Given the description of an element on the screen output the (x, y) to click on. 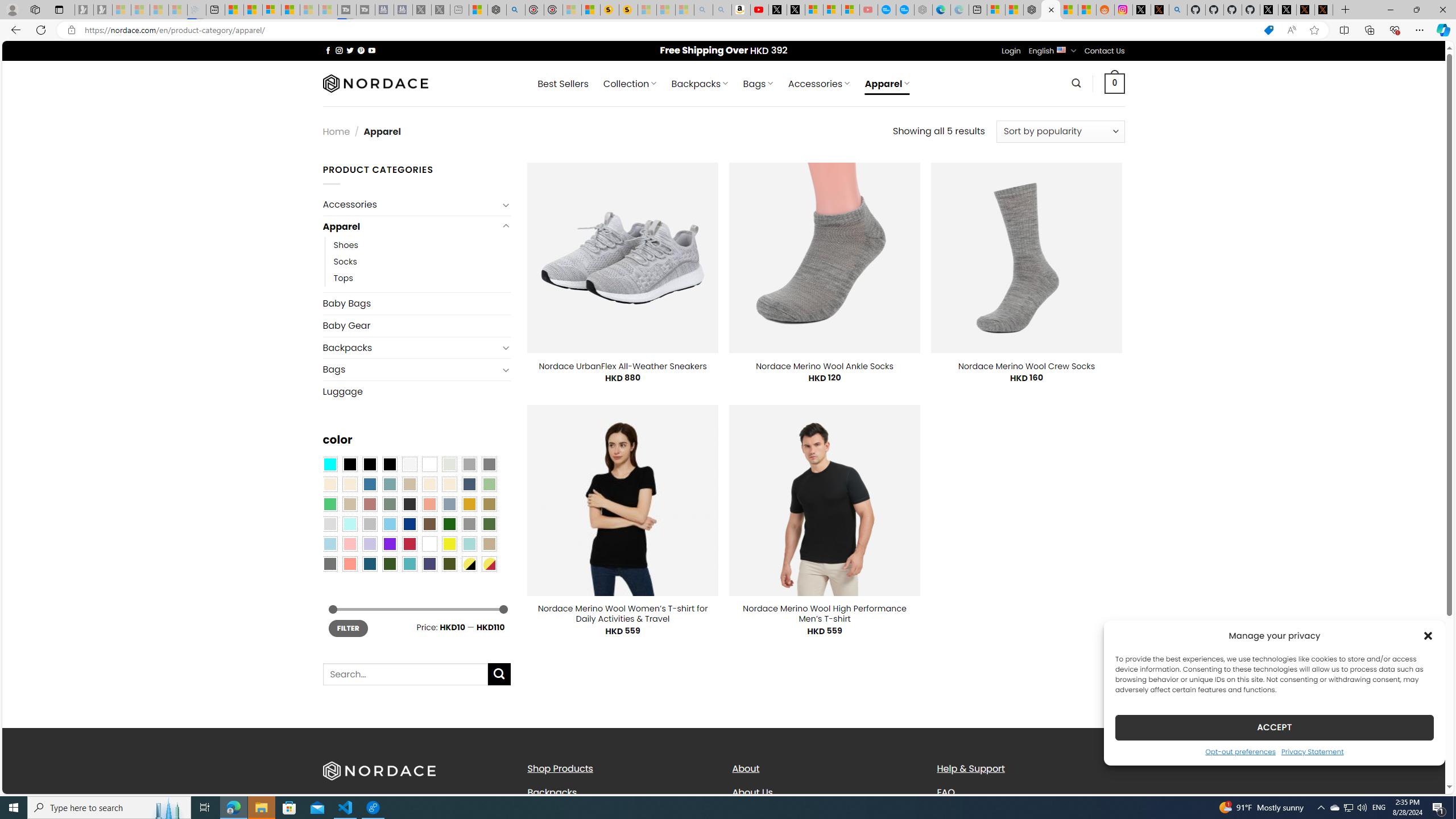
Nordace Merino Wool Crew Socks (1026, 365)
Newsletter Sign Up - Sleeping (102, 9)
Nordace UrbanFlex All-Weather Sneakers (622, 365)
All Black (349, 464)
Brownie (408, 483)
Blue (369, 483)
Khaki (488, 543)
